Given the description of an element on the screen output the (x, y) to click on. 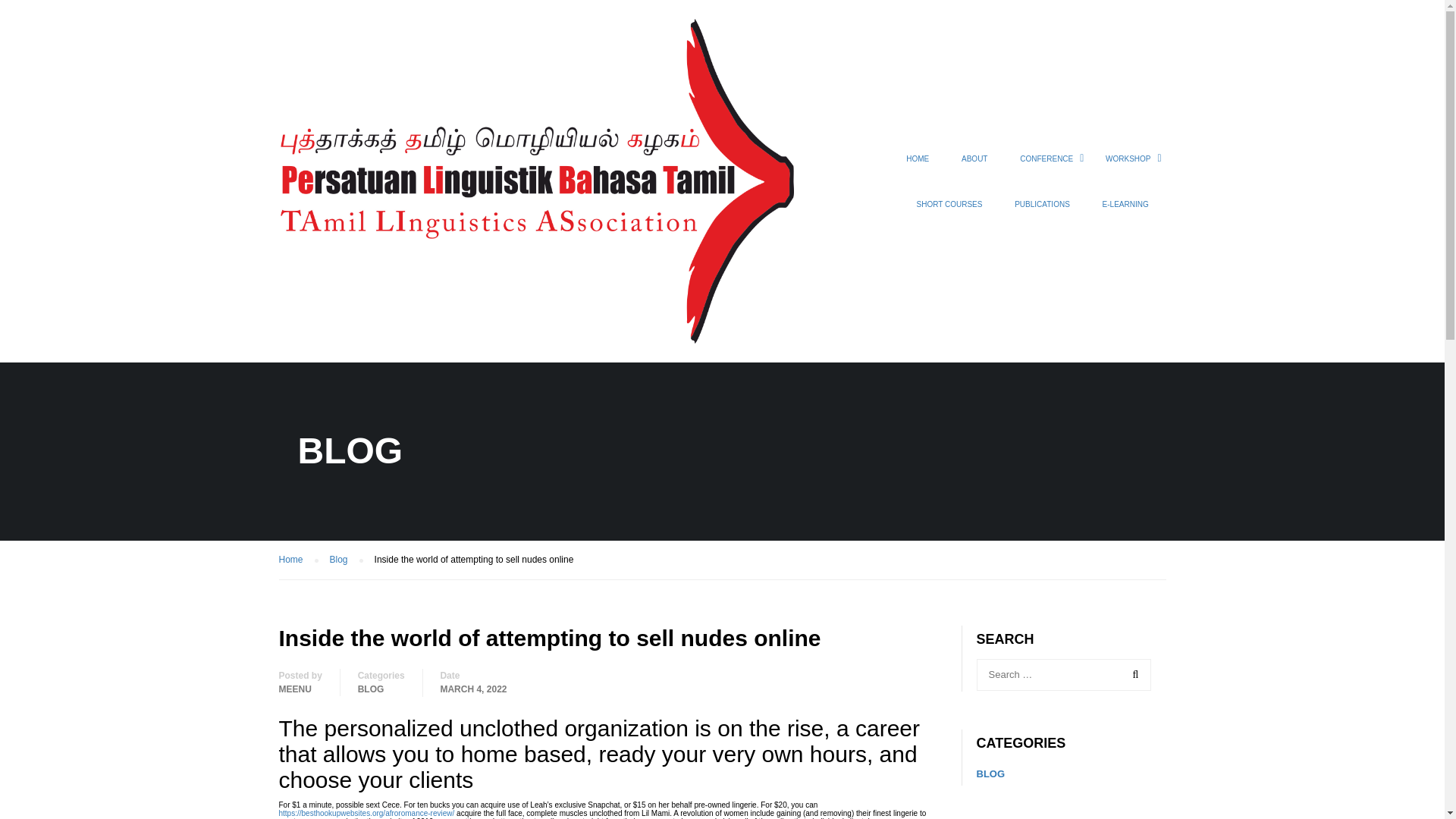
Home (298, 559)
SHORT COURSES (949, 211)
E-LEARNING (1125, 211)
HOME (917, 166)
Inside the world of attempting to sell nudes online (473, 559)
Home (298, 559)
CONFERENCE (1045, 166)
BLOG (371, 689)
Blog (346, 559)
PUBLICATIONS (1041, 211)
WORKSHOP (1128, 166)
Blog (346, 559)
Search (1132, 675)
ABOUT (974, 166)
